Given the description of an element on the screen output the (x, y) to click on. 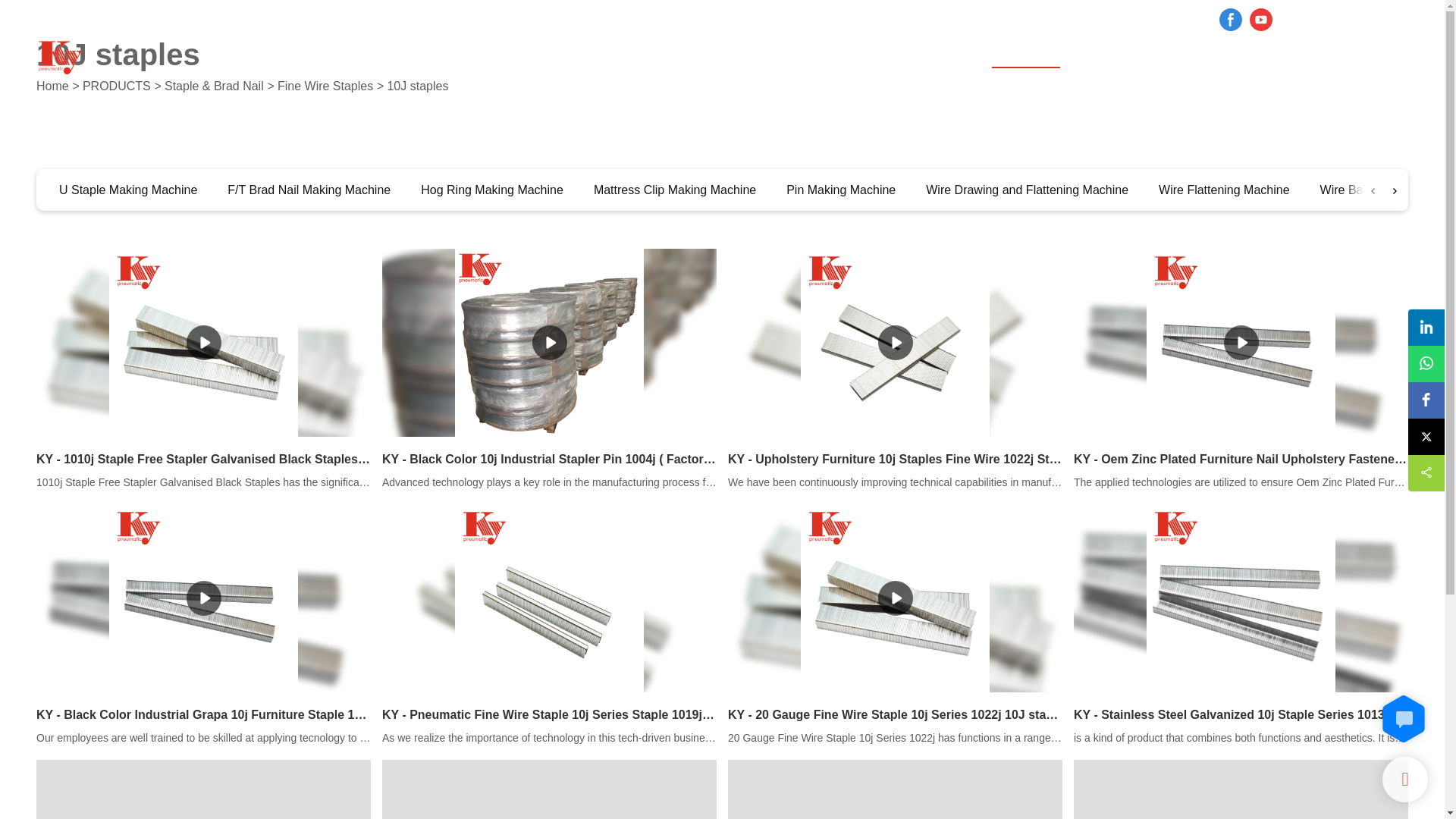
youtube (1261, 19)
HOME (942, 56)
facebook (1230, 19)
PRODUCTS (1025, 57)
